Given the description of an element on the screen output the (x, y) to click on. 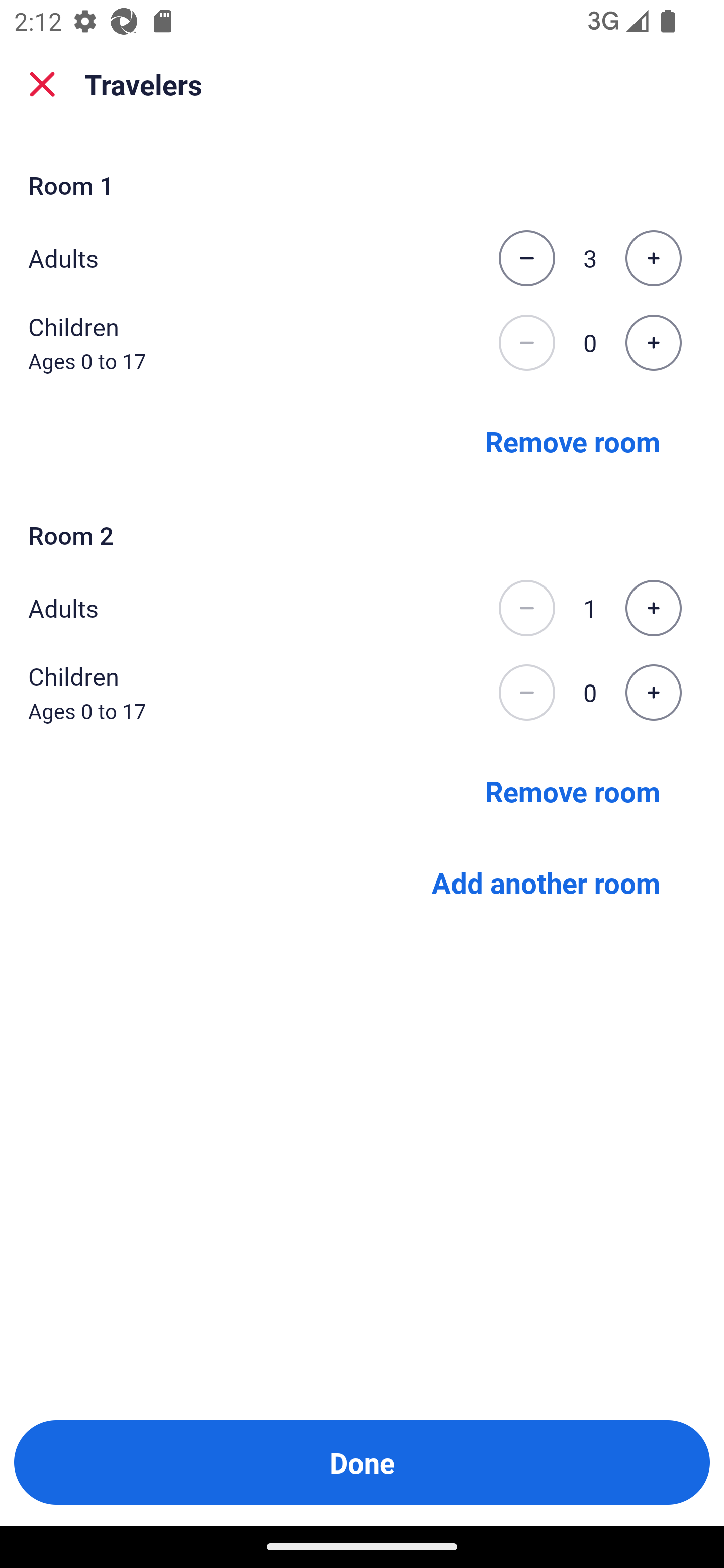
close (42, 84)
Decrease the number of adults (526, 258)
Increase the number of adults (653, 258)
Decrease the number of children (526, 343)
Increase the number of children (653, 343)
Remove room (572, 440)
Decrease the number of adults (526, 608)
Increase the number of adults (653, 608)
Decrease the number of children (526, 692)
Increase the number of children (653, 692)
Remove room (572, 790)
Add another room (545, 882)
Done (361, 1462)
